Given the description of an element on the screen output the (x, y) to click on. 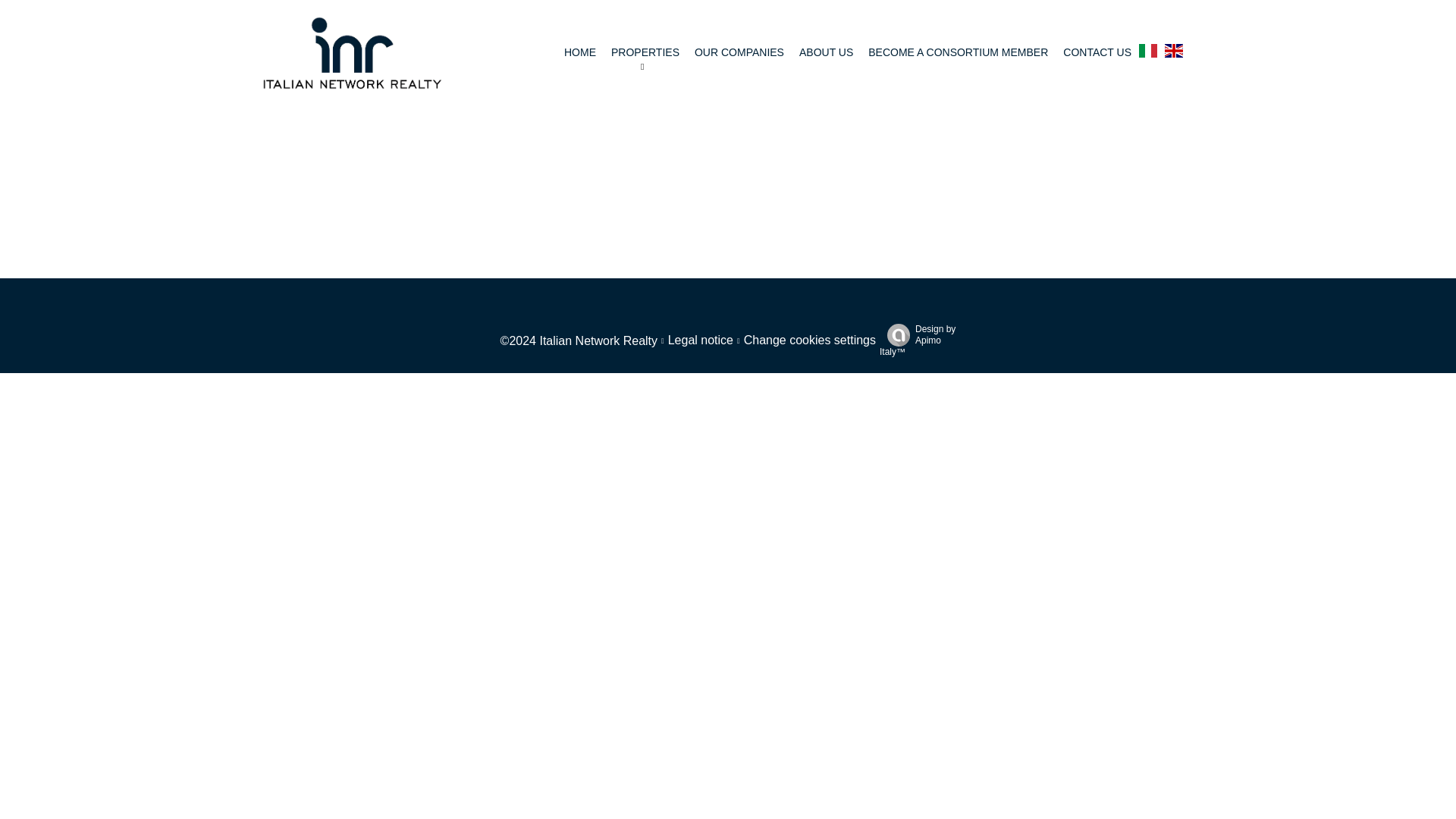
OUR COMPANIES (739, 51)
CONTACT US (1096, 51)
HOME (579, 51)
BECOME A CONSORTIUM MEMBER (957, 51)
PROPERTIES (645, 51)
ABOUT US (826, 51)
